Given the description of an element on the screen output the (x, y) to click on. 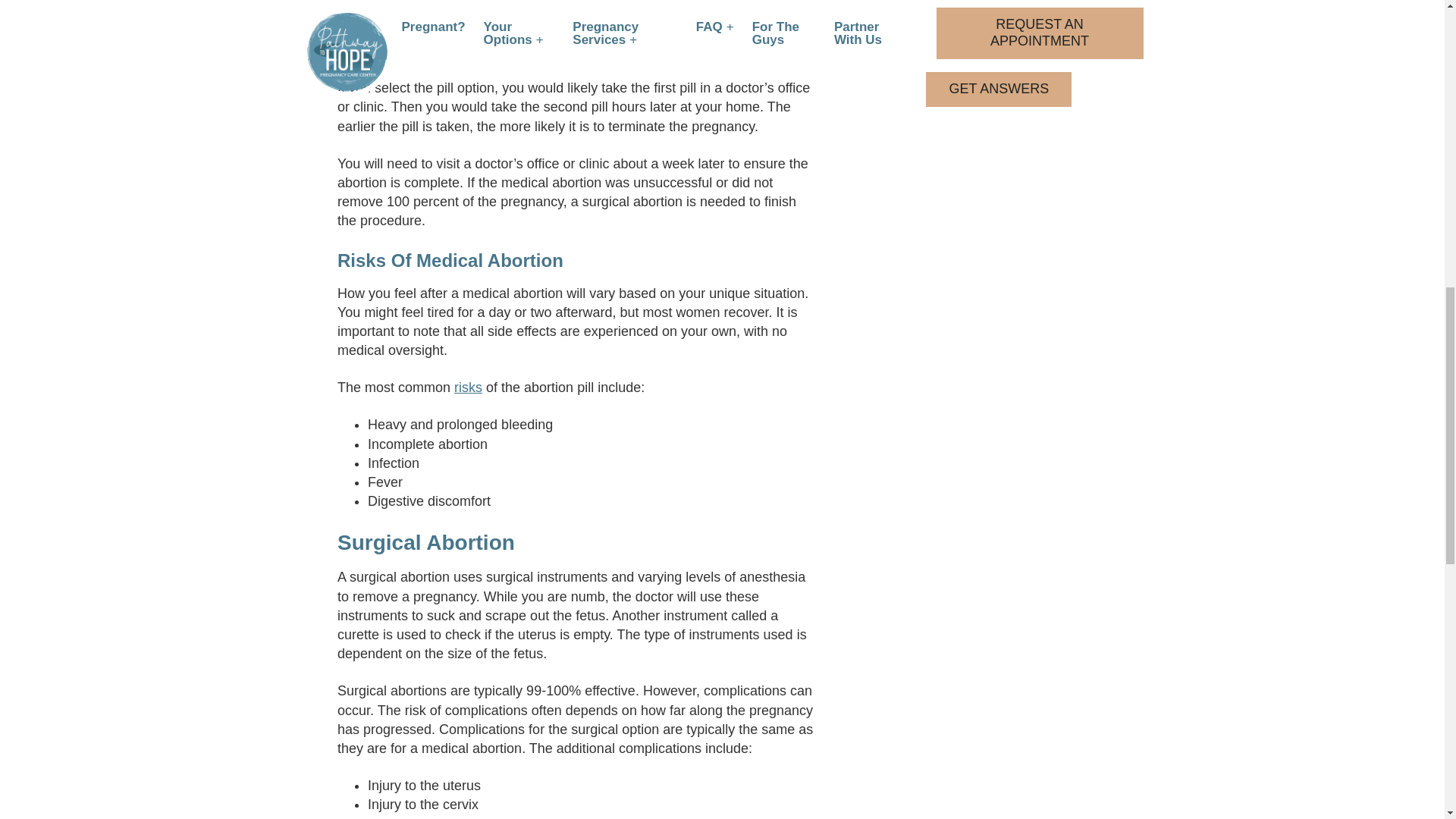
70 days (571, 12)
GET ANSWERS (998, 89)
risks (467, 387)
